Given the description of an element on the screen output the (x, y) to click on. 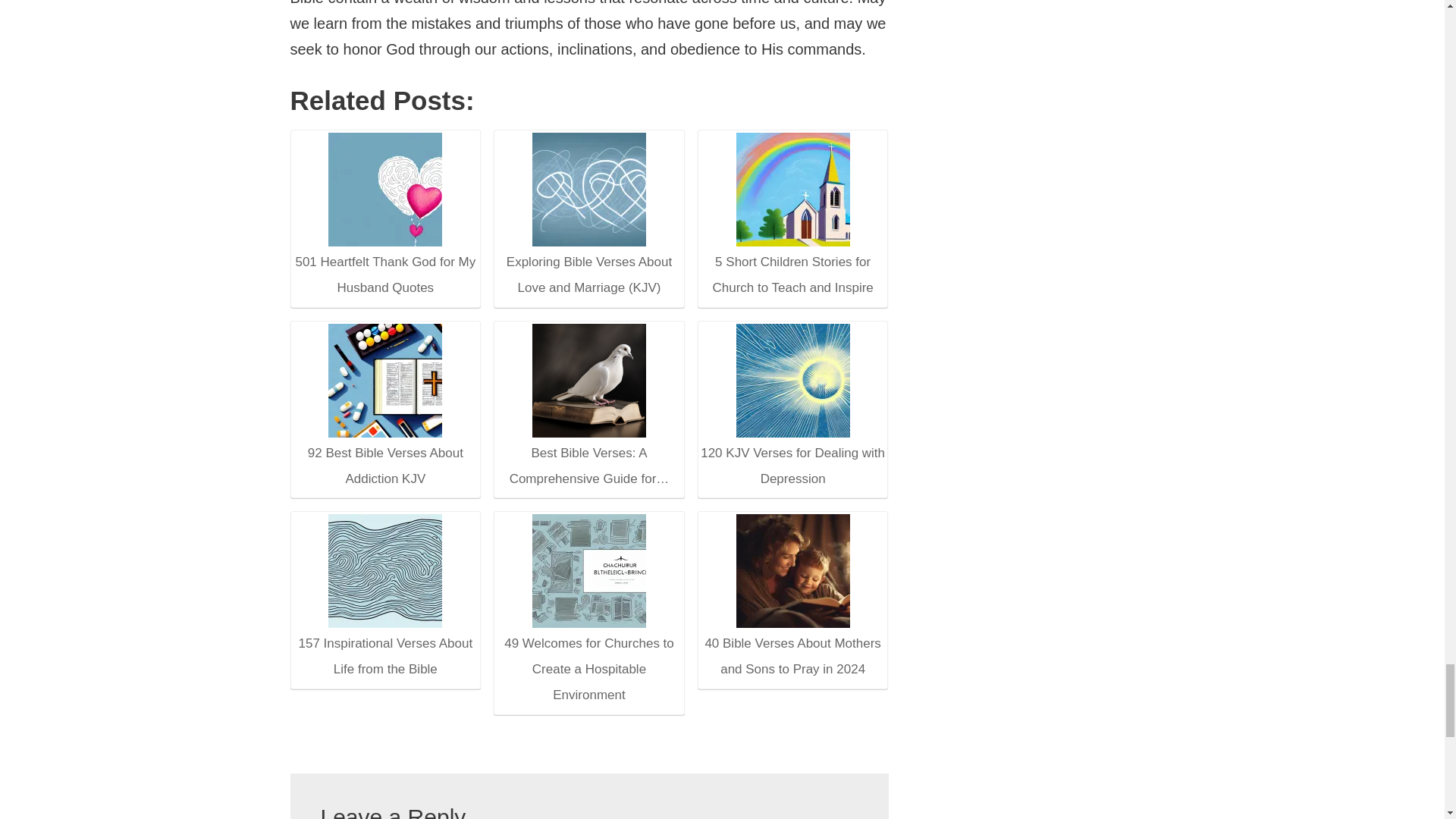
120 KJV Verses for Dealing with Depression (793, 379)
501 Heartfelt Thank God for My Husband Quotes (384, 217)
5 Short Children Stories for Church to Teach and Inspire (792, 216)
40 Bible Verses About Mothers and Sons to Pray in 2024 (793, 571)
120 KJV Verses for Dealing with Depression (792, 406)
157 Inspirational Verses About Life from the Bible (385, 571)
49 Welcomes for Churches to Create a Hospitable Environment (589, 571)
49 Welcomes for Churches to Create a Hospitable Environment (588, 611)
157 Inspirational Verses About Life from the Bible (384, 598)
5 Short Children Stories for Church to Teach and Inspire (793, 189)
